Given the description of an element on the screen output the (x, y) to click on. 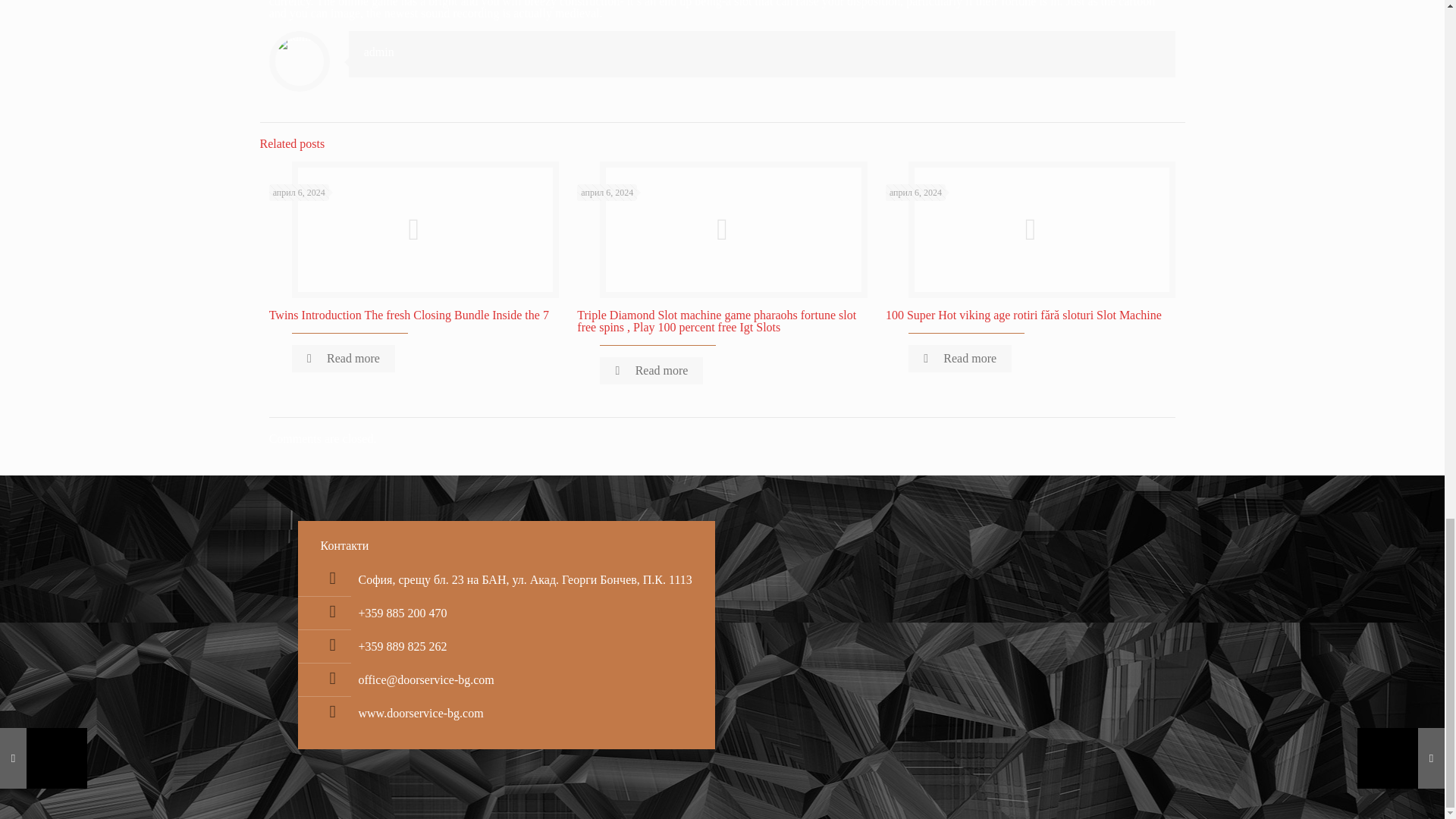
Read more (651, 370)
www.doorservice-bg.com (420, 712)
Read more (343, 358)
admin (379, 51)
Read more (959, 358)
Twins Introduction The fresh Closing Bundle Inside the 7 (408, 314)
